Given the description of an element on the screen output the (x, y) to click on. 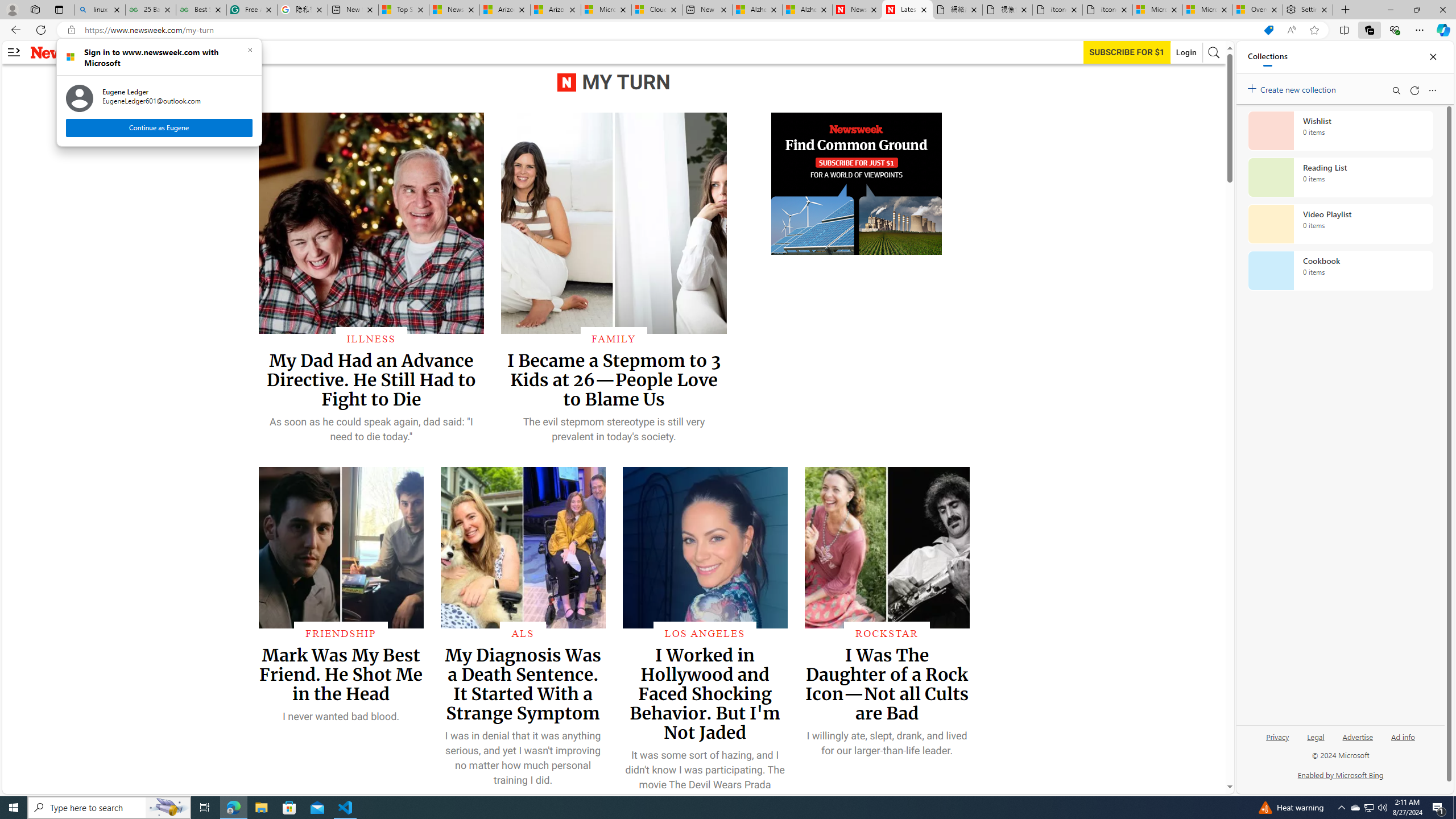
ROCKSTAR (887, 633)
Best SSL Certificates Provider in India - GeeksforGeeks (201, 9)
ALS (522, 633)
Wishlist collection, 0 items (1339, 130)
LOS ANGELES (704, 633)
Latest My Turn News & Archive | Newsweek.com (907, 9)
Task View (204, 807)
User Promoted Notification Area (1368, 807)
Action Center, 1 new notification (1439, 807)
Legal (1315, 741)
Video Playlist collection, 0 items (1339, 223)
